Given the description of an element on the screen output the (x, y) to click on. 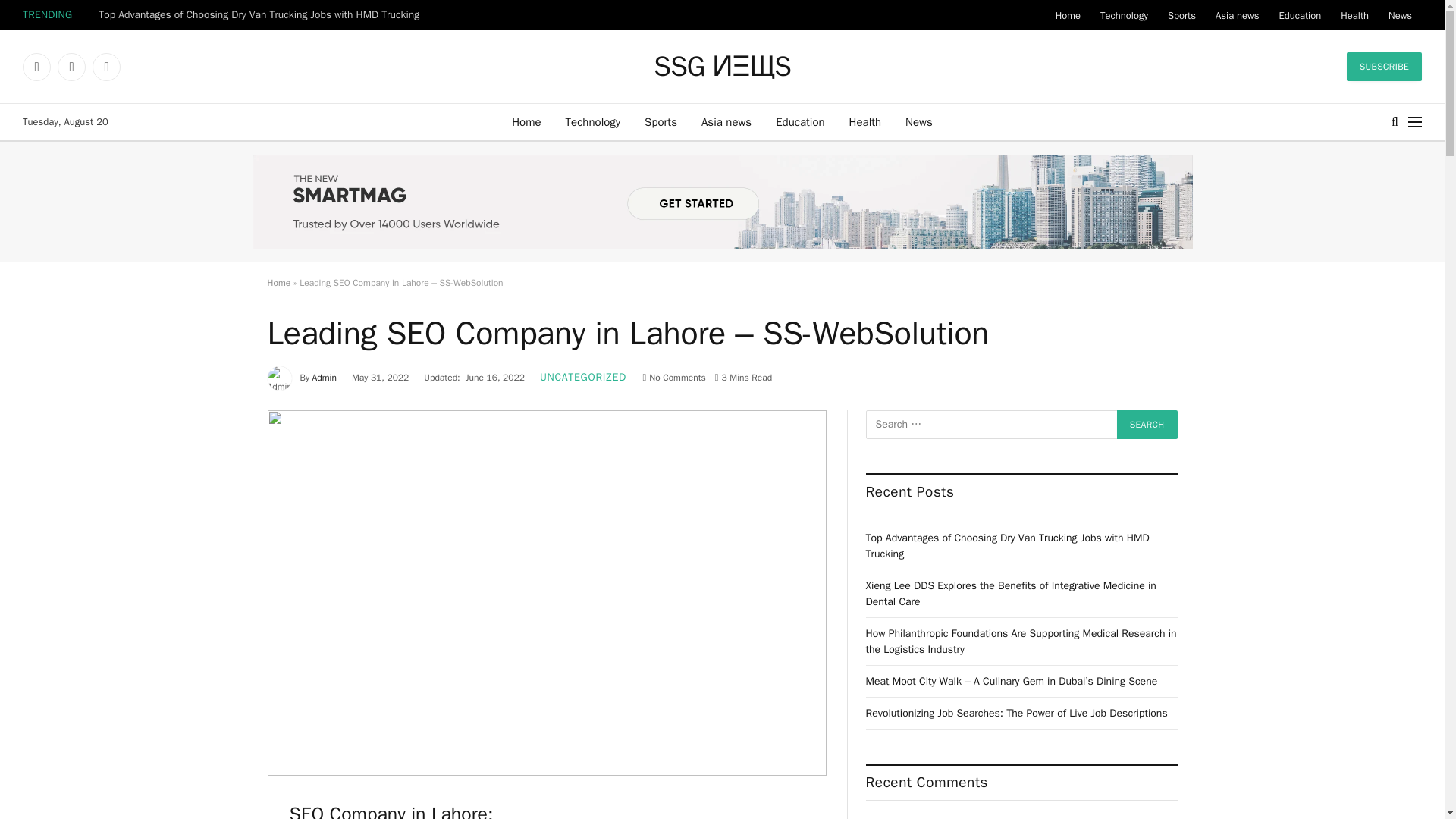
Asia news (1236, 15)
Search (1146, 424)
Health (1354, 15)
Facebook (36, 67)
Education (798, 122)
Sports (1181, 15)
Technology (593, 122)
Sports (659, 122)
SUBSCRIBE (1384, 66)
Instagram (106, 67)
